Given the description of an element on the screen output the (x, y) to click on. 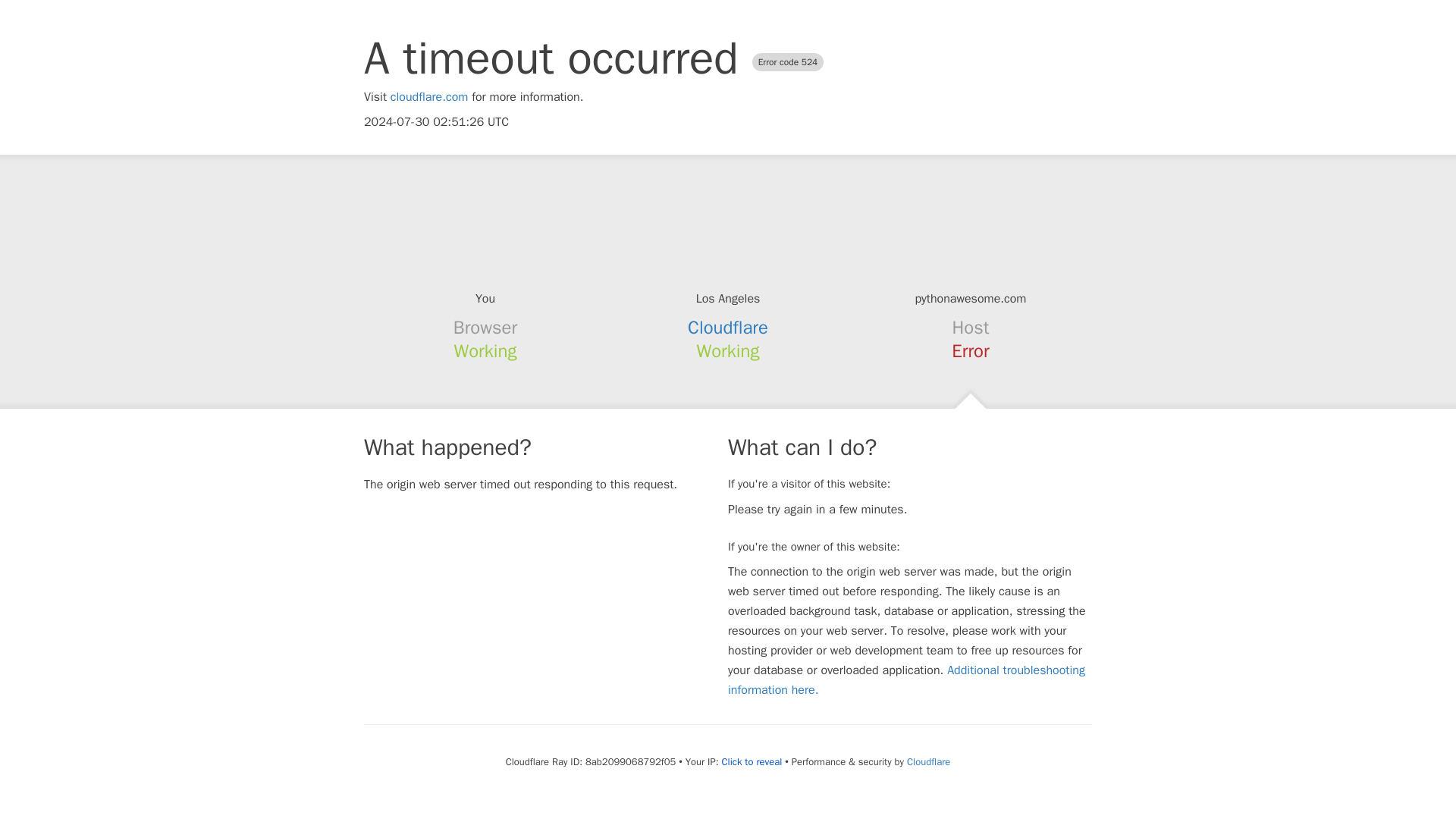
Cloudflare (727, 327)
Cloudflare (928, 761)
cloudflare.com (429, 96)
Click to reveal (750, 762)
Additional troubleshooting information here. (906, 679)
